Given the description of an element on the screen output the (x, y) to click on. 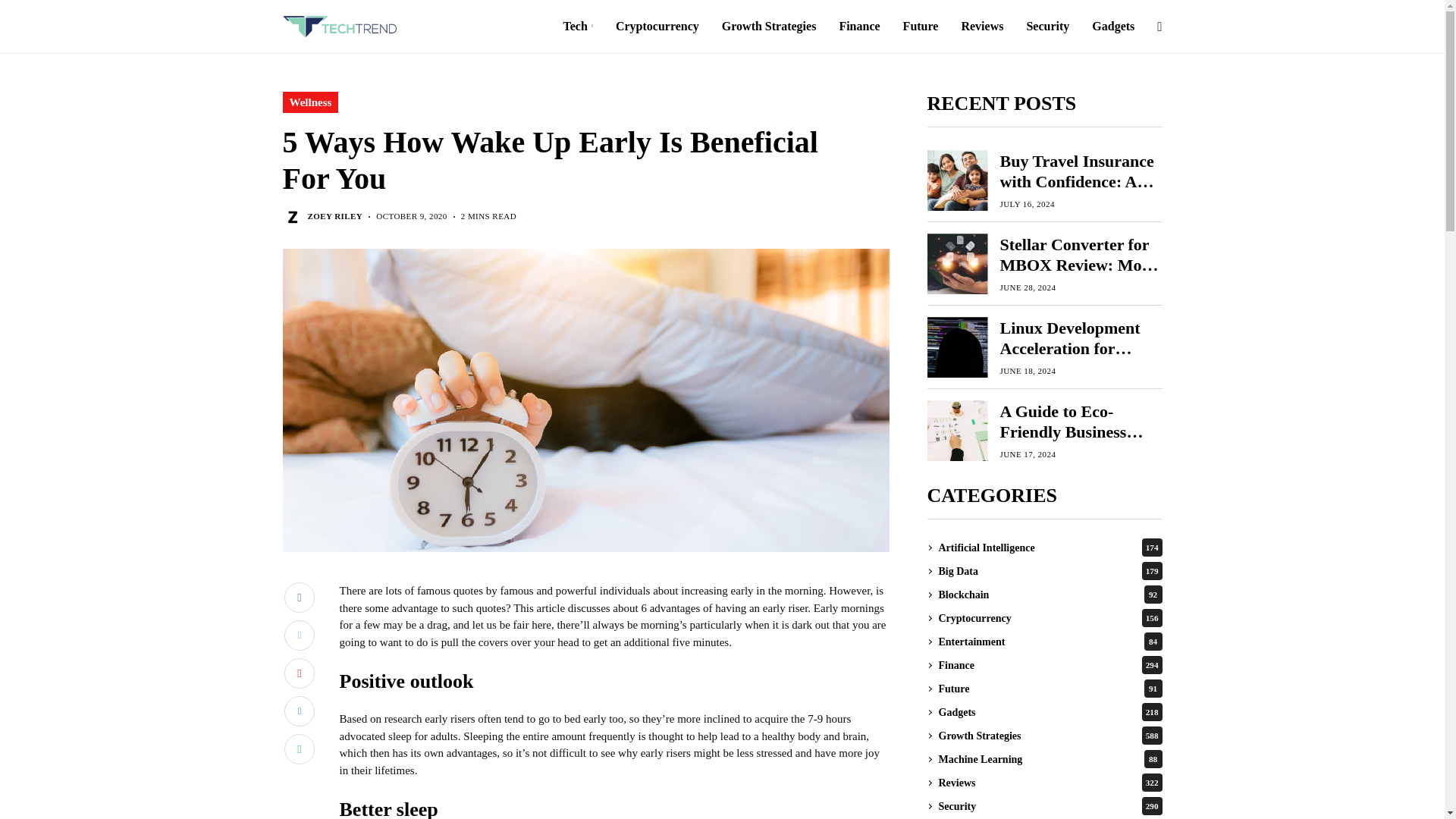
Cryptocurrency (656, 26)
Posts by Zoey Riley (334, 216)
Growth Strategies (769, 26)
